Given the description of an element on the screen output the (x, y) to click on. 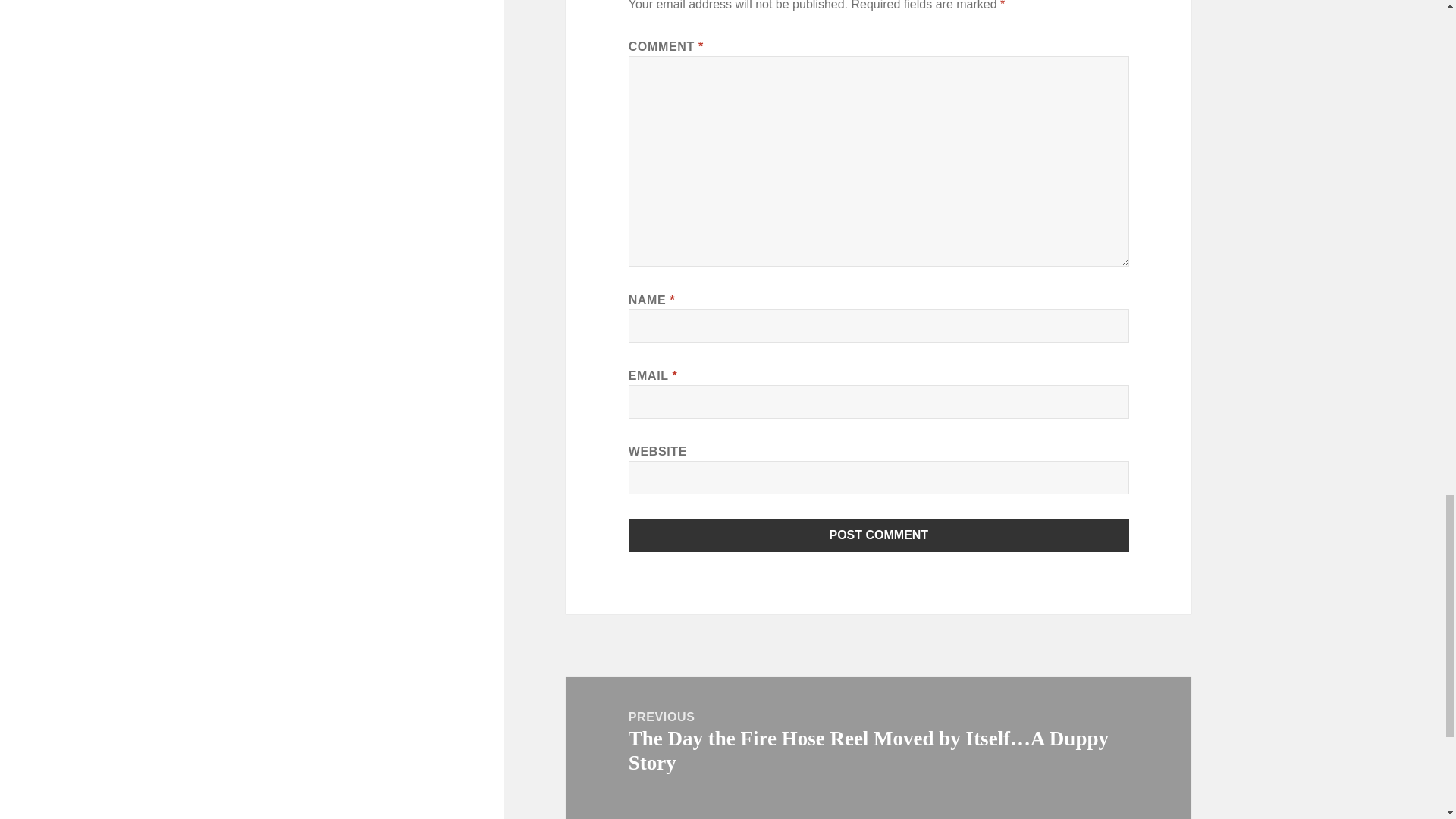
Post Comment (878, 535)
